Given the description of an element on the screen output the (x, y) to click on. 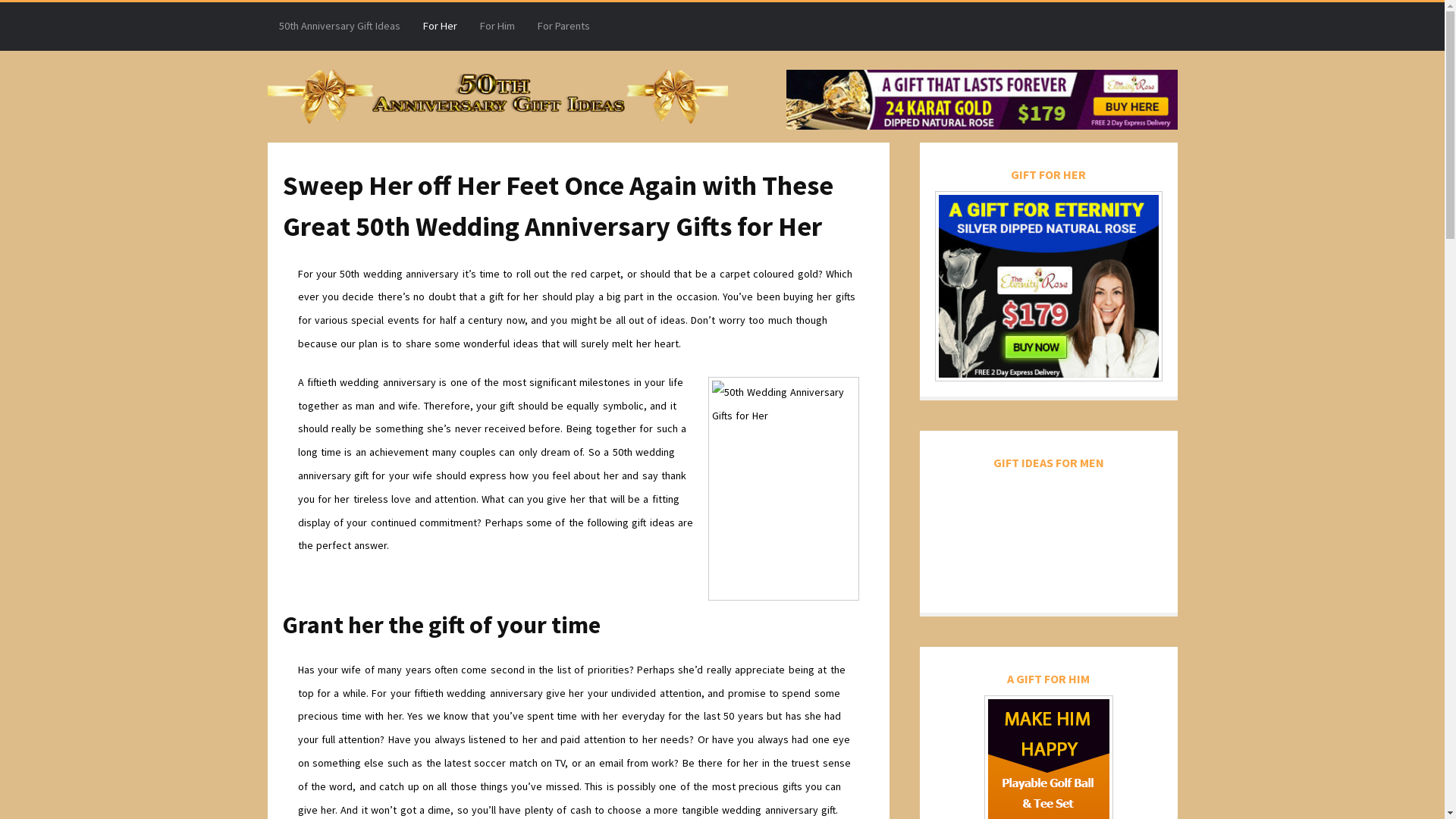
For Him Element type: text (497, 26)
For Her Element type: text (439, 26)
For Parents Element type: text (563, 26)
50th Anniversary Gift Ideas Element type: text (338, 26)
